Given the description of an element on the screen output the (x, y) to click on. 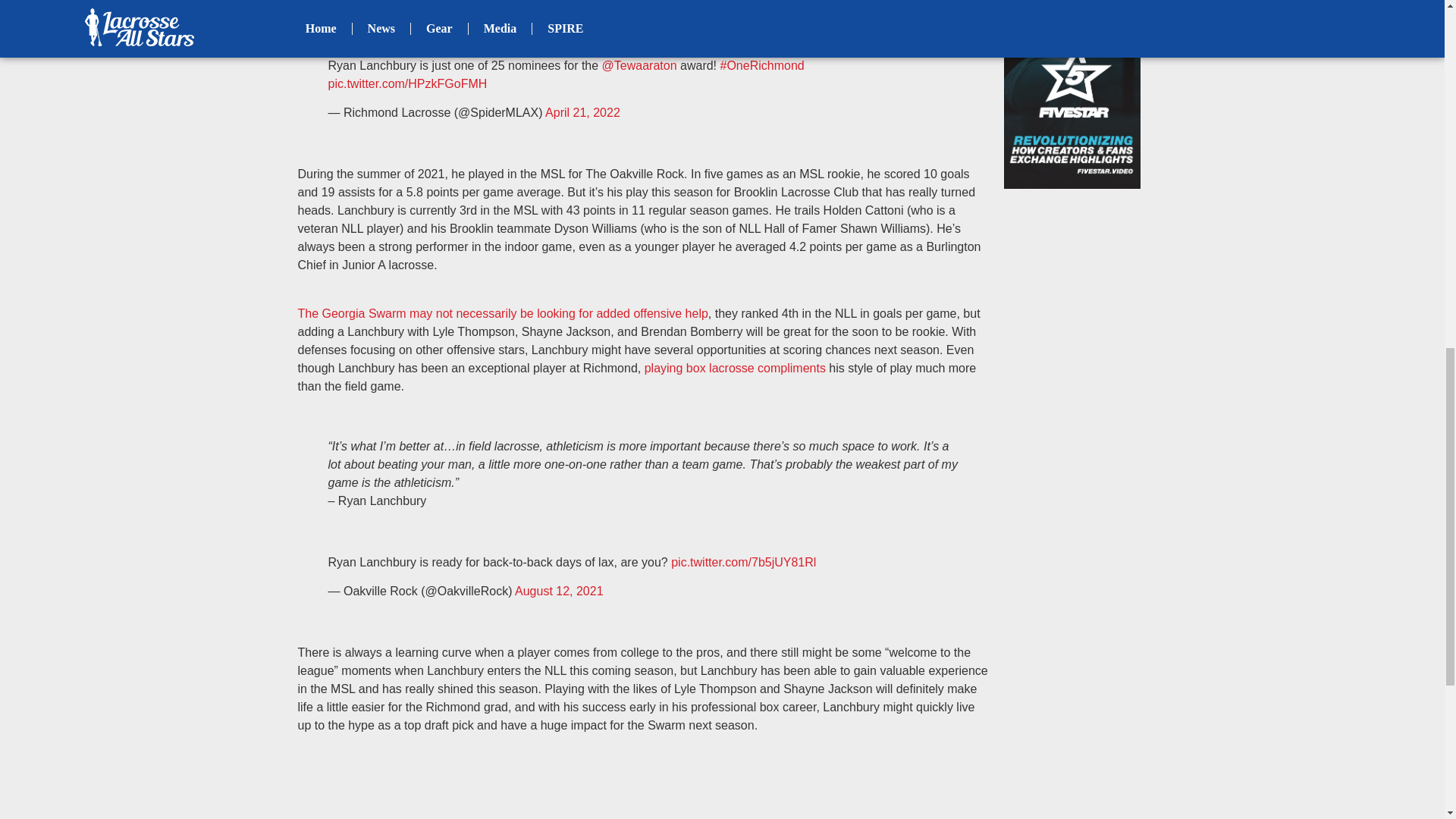
August 12, 2021 (559, 590)
playing box lacrosse compliments (735, 367)
April 21, 2022 (582, 112)
